Given the description of an element on the screen output the (x, y) to click on. 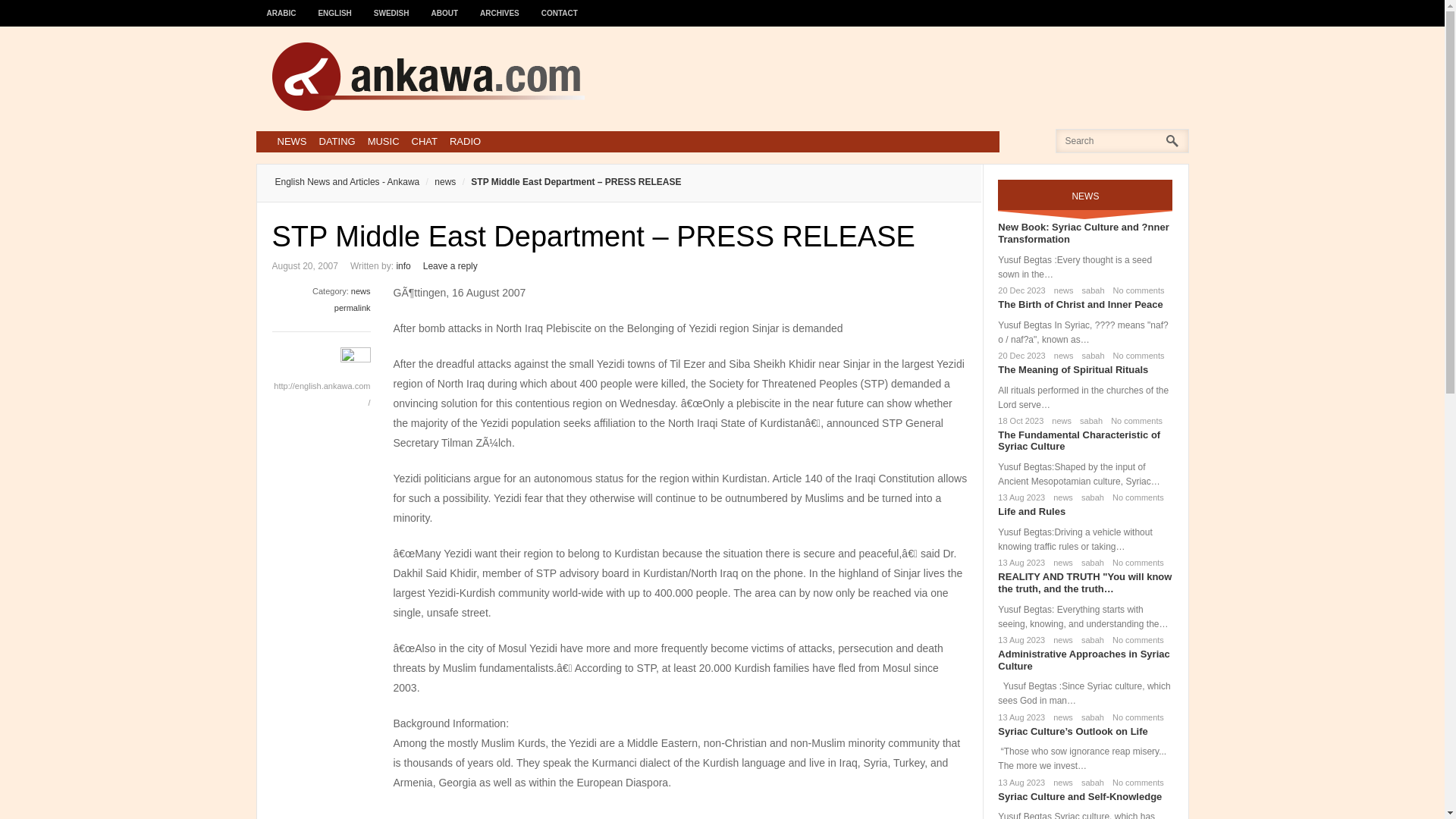
New Book: Syriac Culture and ?nner Transformation (1083, 232)
Advertisement (680, 813)
No comments (1135, 355)
Administrative Approaches in Syriac Culture (1083, 659)
The Fundamental Characteristic of Syriac Culture (1078, 440)
DATING (337, 141)
RADIO (465, 141)
Leave a reply (450, 266)
Search (35, 15)
SWEDISH (391, 5)
The Meaning of Spiritual Rituals (1072, 369)
ARABIC (281, 5)
news (360, 290)
sabah (1090, 289)
CHAT (425, 141)
